Given the description of an element on the screen output the (x, y) to click on. 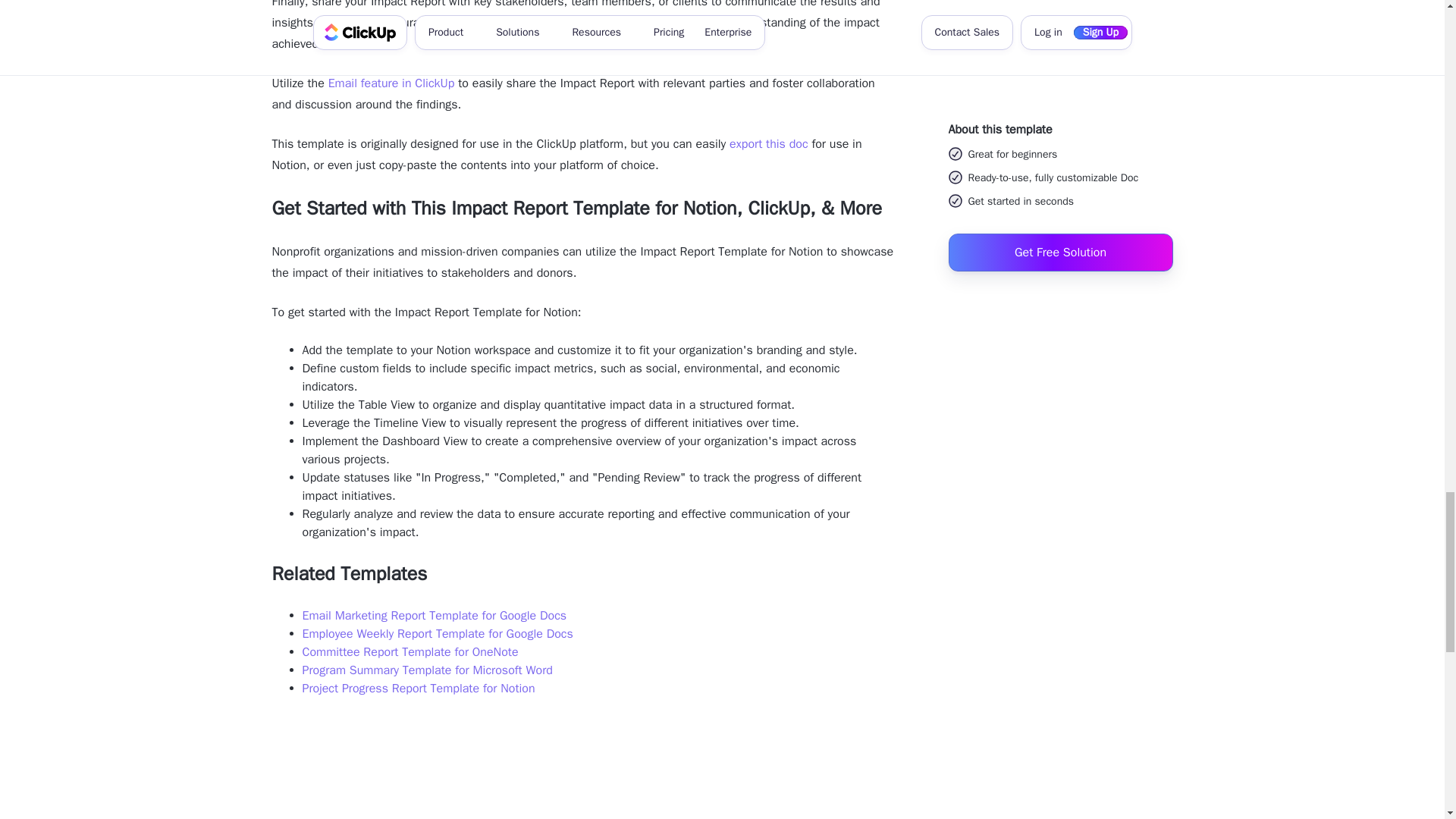
export this doc (768, 143)
Committee Report Template for OneNote (409, 652)
Email Marketing Report Template for Google Docs (433, 615)
Employee Weekly Report Template for Google Docs (436, 633)
Email feature in ClickUp (391, 83)
